Given the description of an element on the screen output the (x, y) to click on. 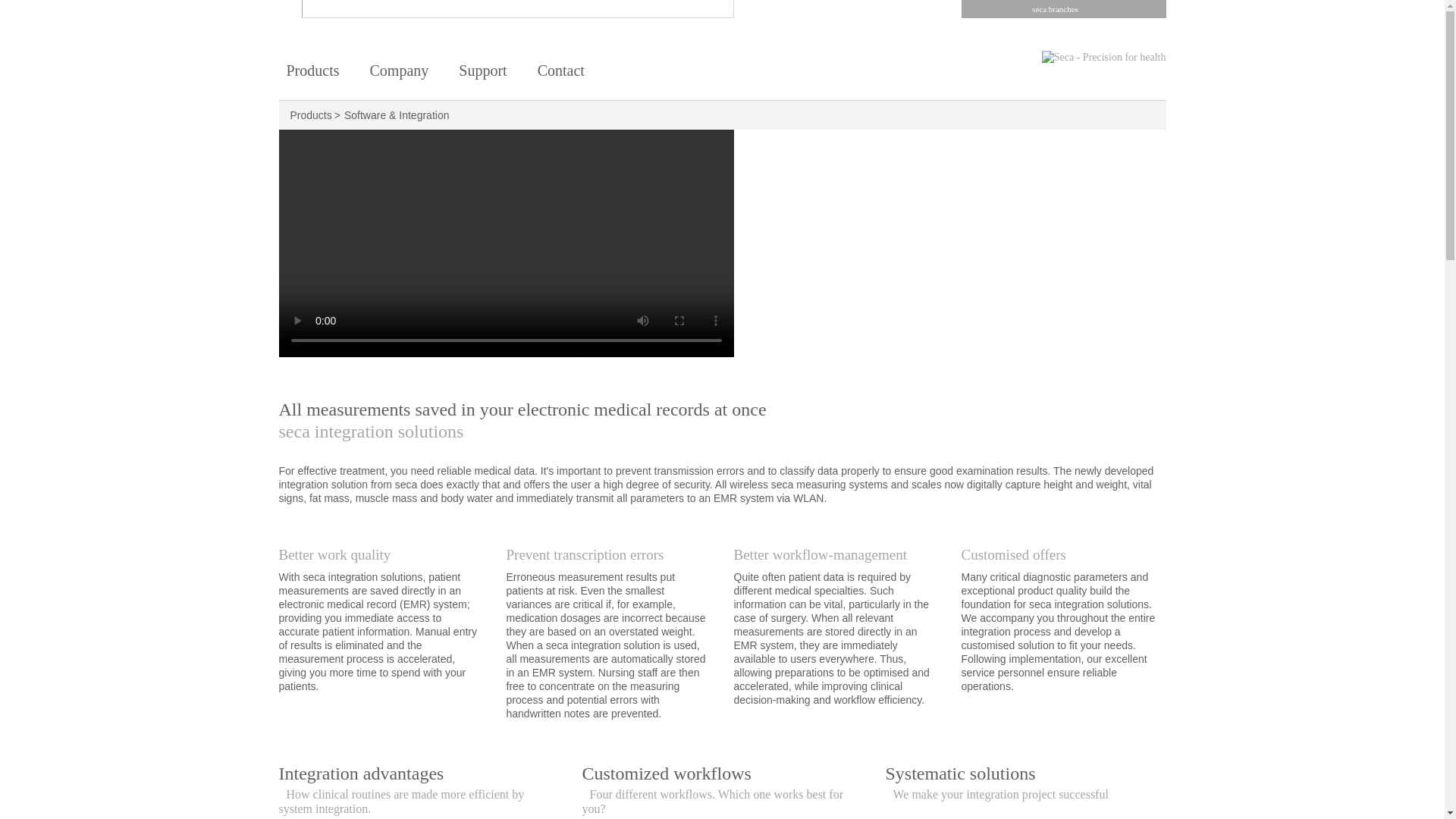
At home worldwide (560, 73)
seca branches (1063, 9)
back to the startpage of seca (1077, 57)
Products (310, 114)
Contact (560, 73)
